Given the description of an element on the screen output the (x, y) to click on. 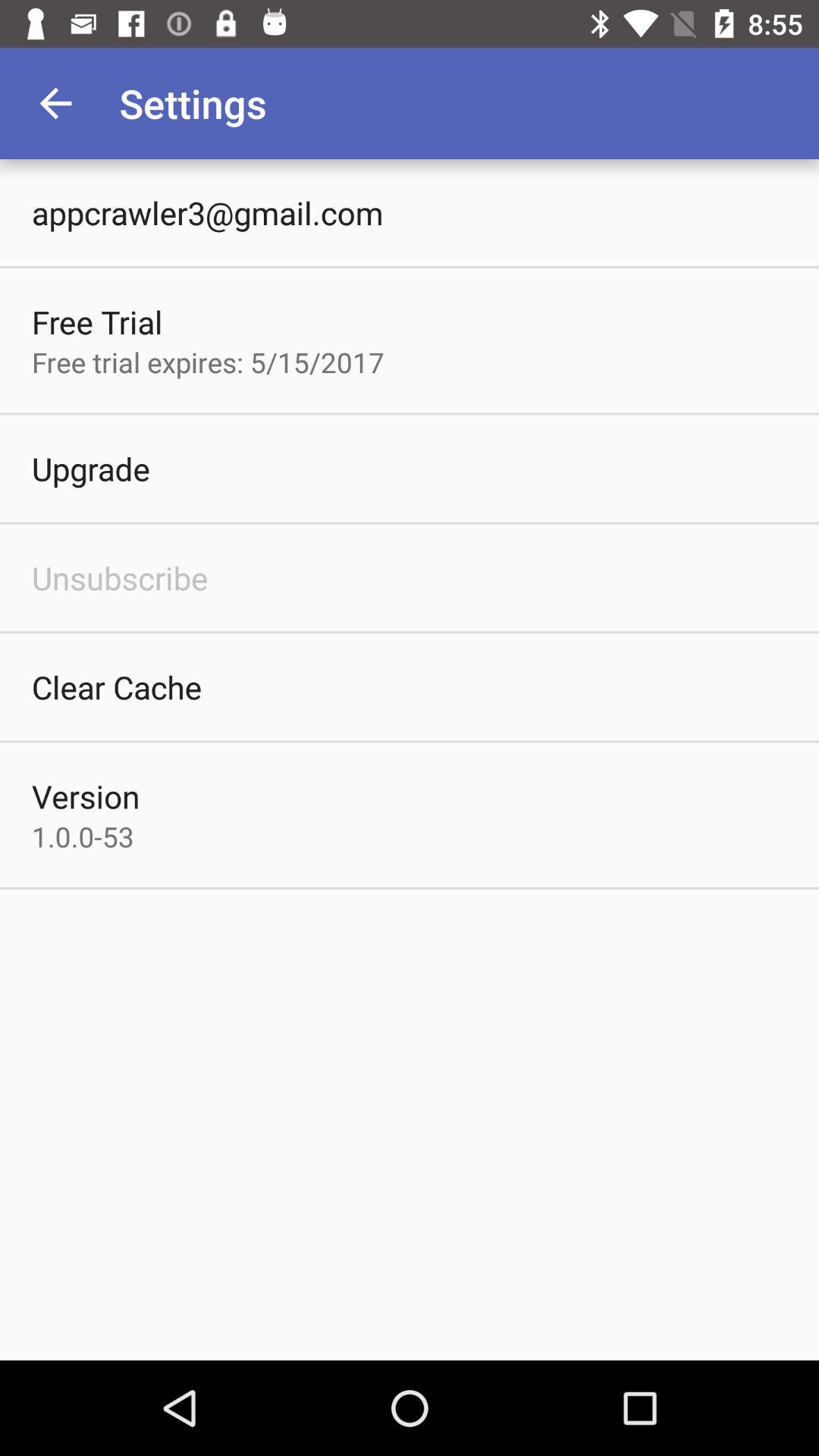
turn on the item below clear cache (85, 795)
